Given the description of an element on the screen output the (x, y) to click on. 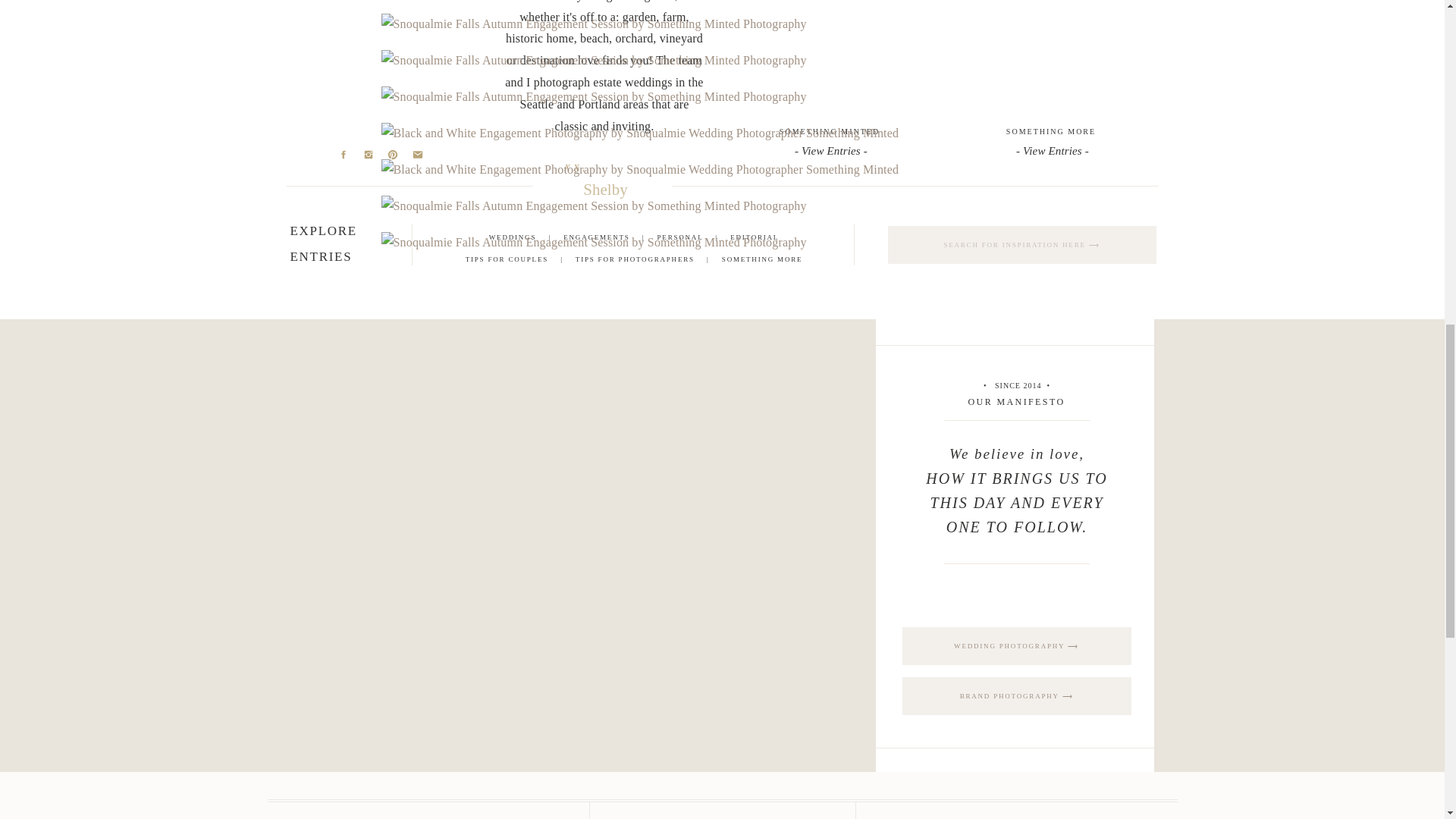
Post Comment (424, 100)
Post Comment (424, 100)
WEDDINGS (512, 236)
yes (388, 30)
